Given the description of an element on the screen output the (x, y) to click on. 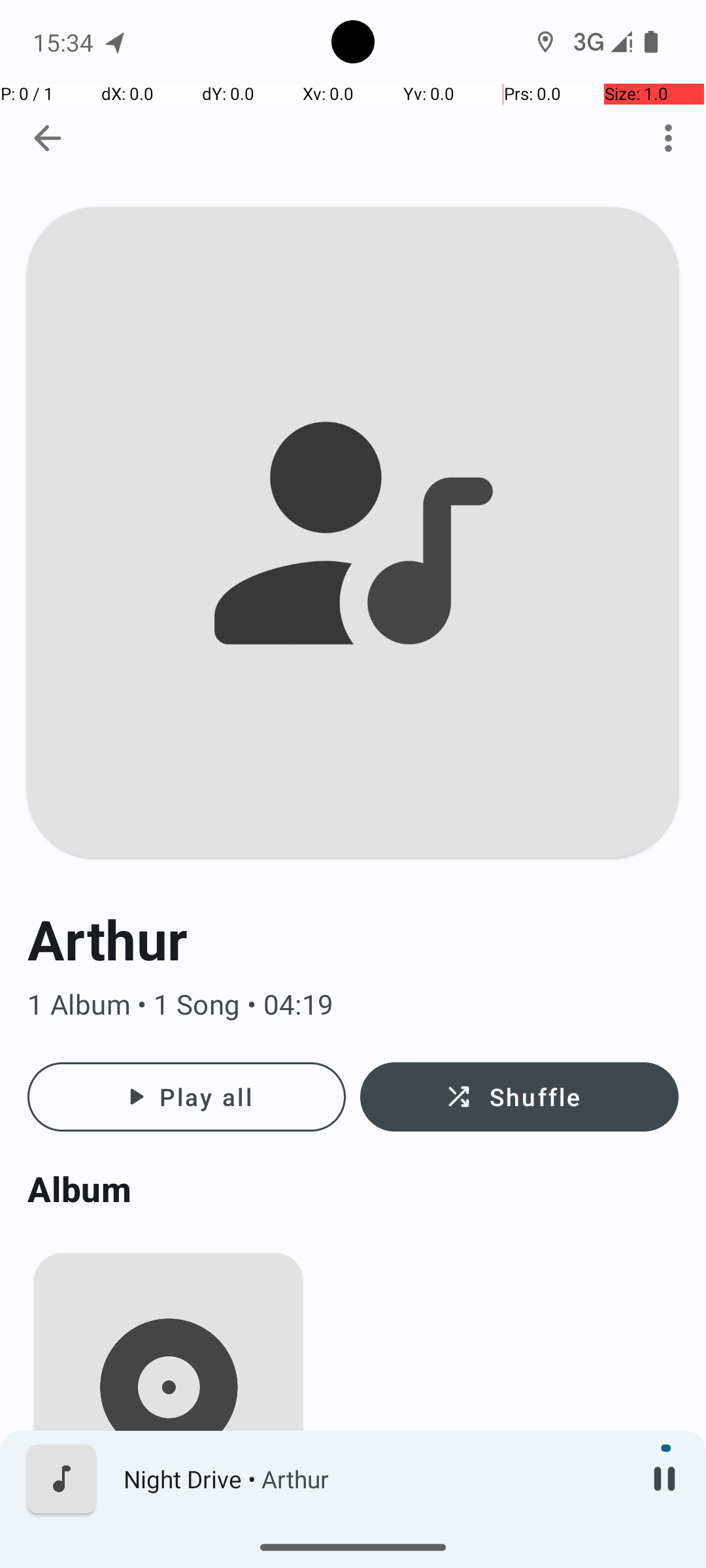
Arthur Element type: android.widget.TextView (352, 939)
1 Album • 1 Song • 04:19 Element type: android.widget.TextView (352, 1004)
Play all Element type: android.widget.Button (186, 1096)
Shuffle Element type: android.widget.Button (519, 1096)
Album Element type: android.widget.TextView (353, 1188)
Night Drive • Arthur Element type: android.widget.TextView (372, 1478)
Music Element type: android.widget.TextView (168, 1544)
